Given the description of an element on the screen output the (x, y) to click on. 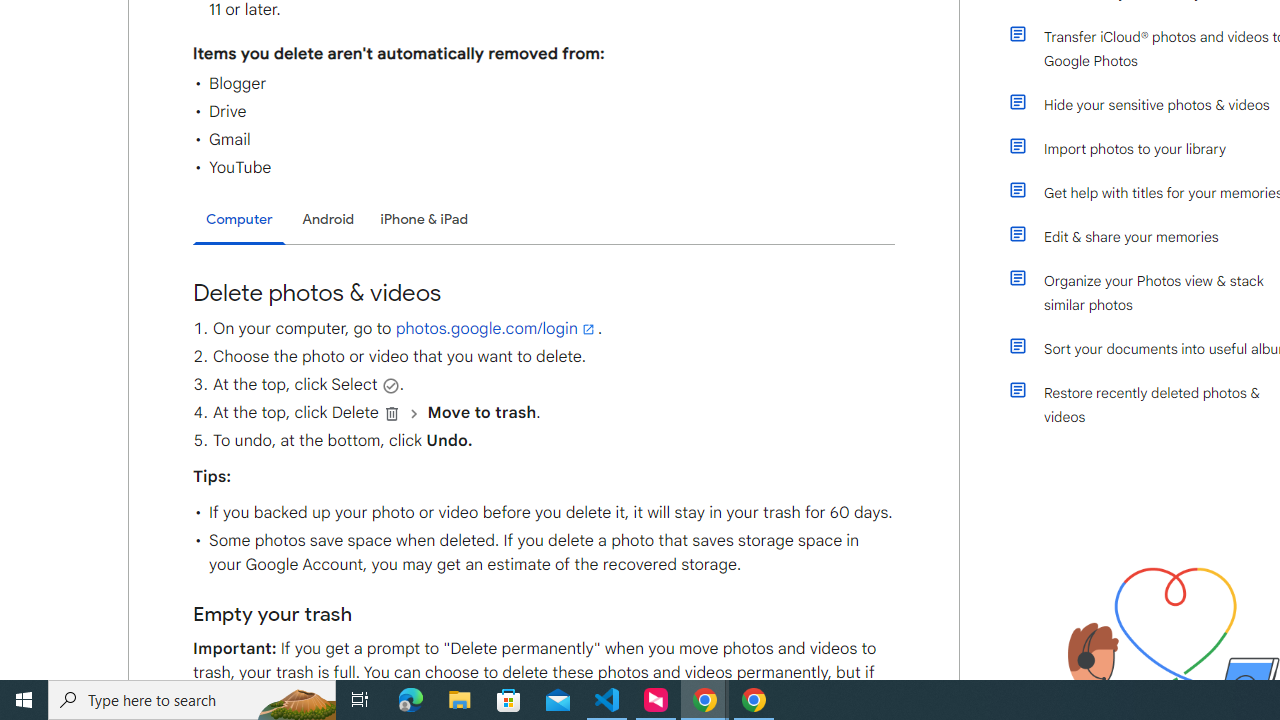
photos.google.com/login (496, 328)
iPhone & iPad (424, 219)
Android (328, 219)
Delete (391, 413)
Select (390, 385)
Computer (239, 219)
and then (413, 413)
